Given the description of an element on the screen output the (x, y) to click on. 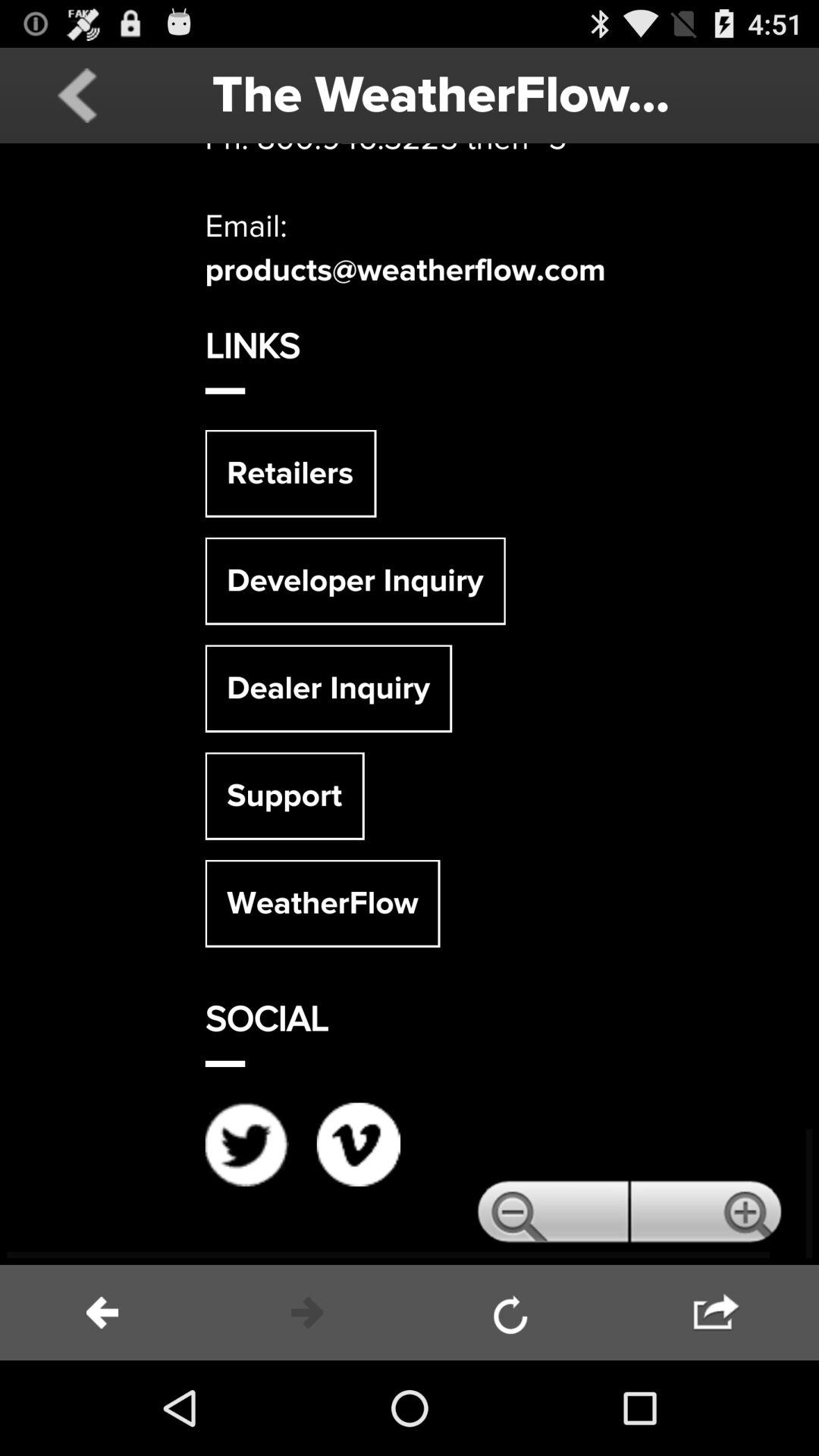
back (102, 1312)
